Given the description of an element on the screen output the (x, y) to click on. 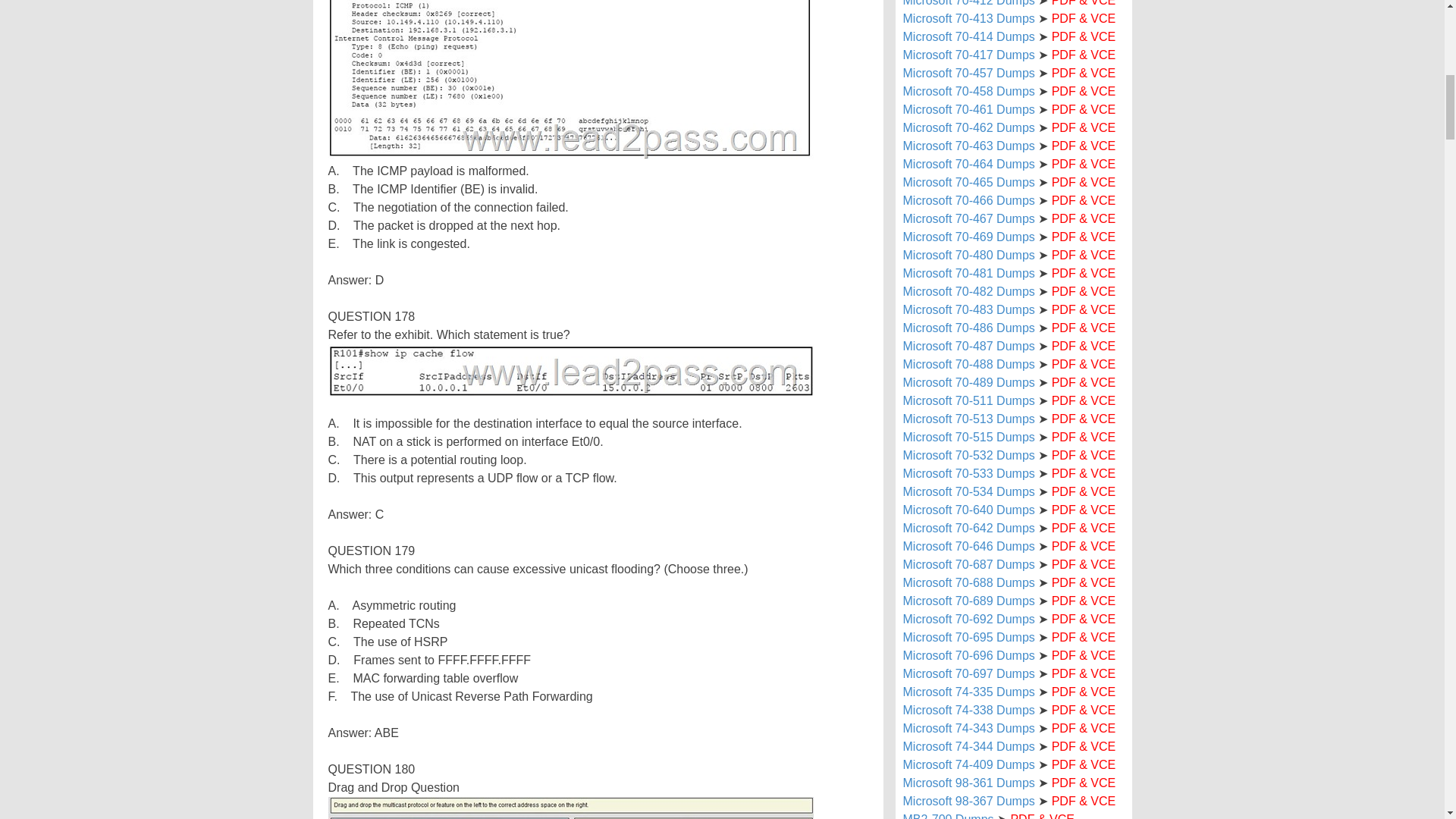
1801 (569, 807)
1781 (569, 369)
1771 (569, 81)
